Given the description of an element on the screen output the (x, y) to click on. 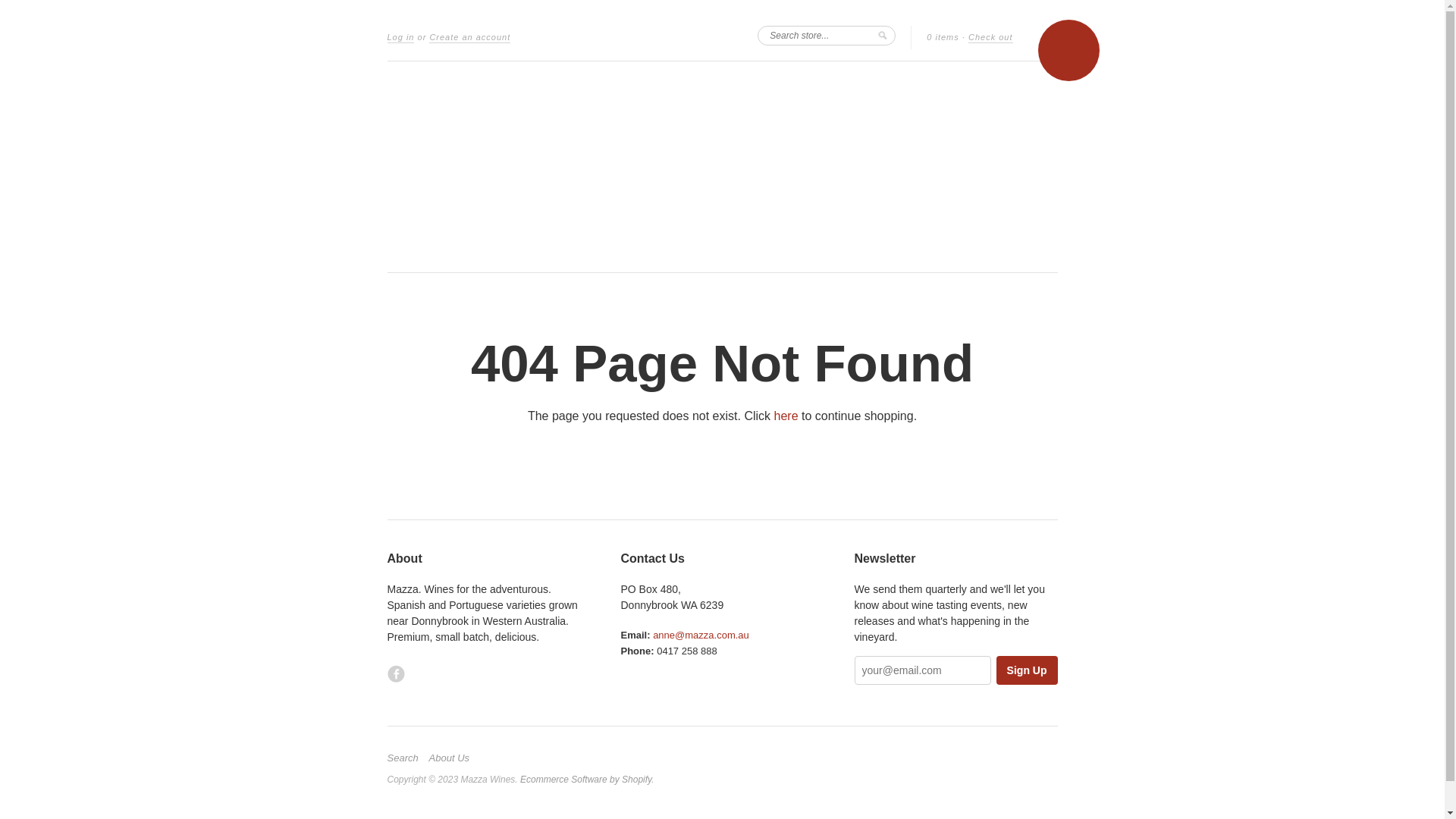
Ecommerce Software by Shopify Element type: text (585, 779)
Create an account Element type: text (469, 37)
Search Element type: text (405, 758)
Log in Element type: text (400, 37)
anne@mazza.com.au Element type: text (700, 634)
Check out Element type: text (990, 37)
Sign Up Element type: text (1026, 669)
0 items Element type: text (942, 37)
Facebook Element type: text (395, 673)
here Element type: text (786, 415)
About Us Element type: text (452, 758)
